Given the description of an element on the screen output the (x, y) to click on. 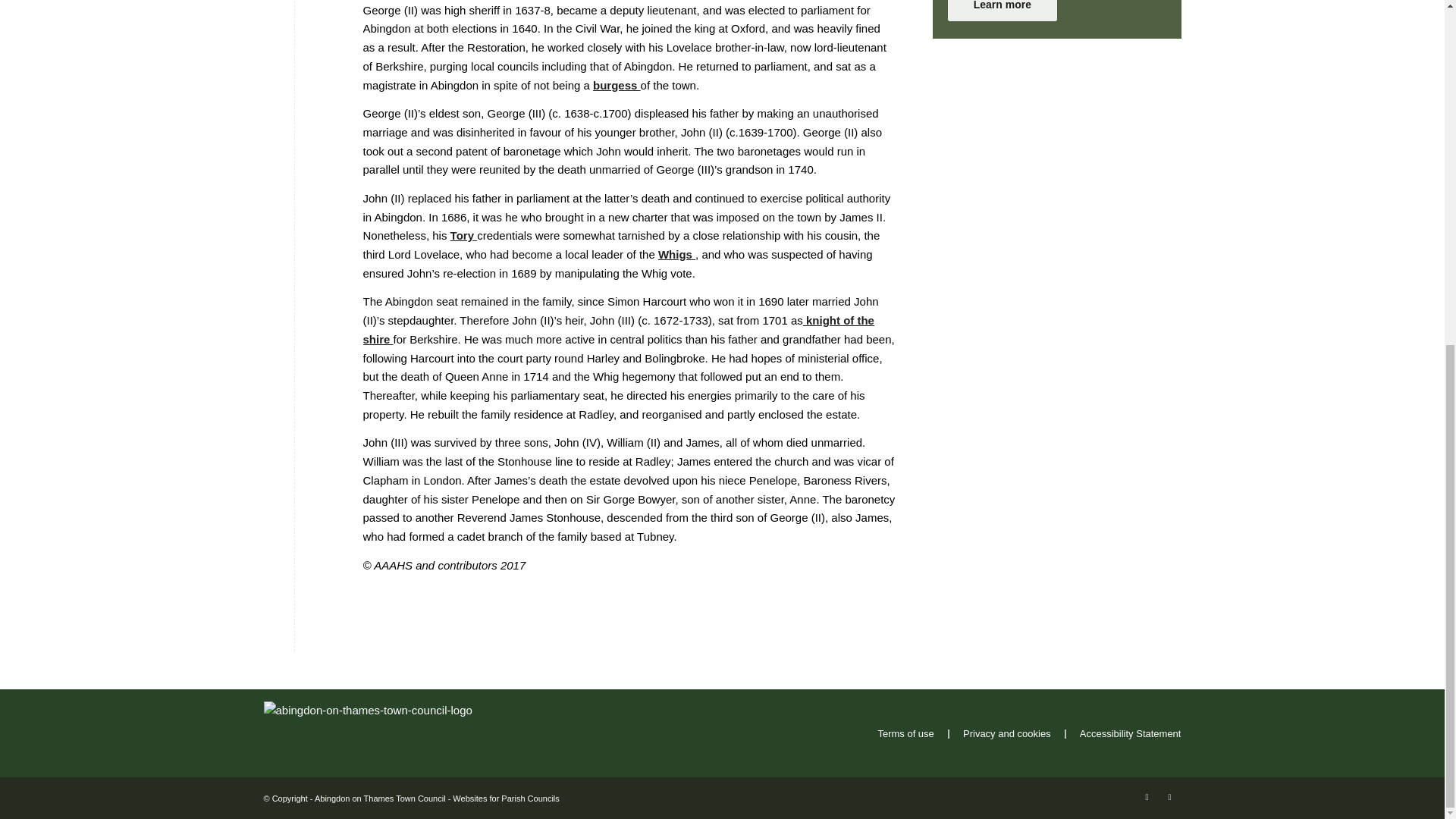
Facebook (1146, 796)
Twitter (1169, 796)
